Given the description of an element on the screen output the (x, y) to click on. 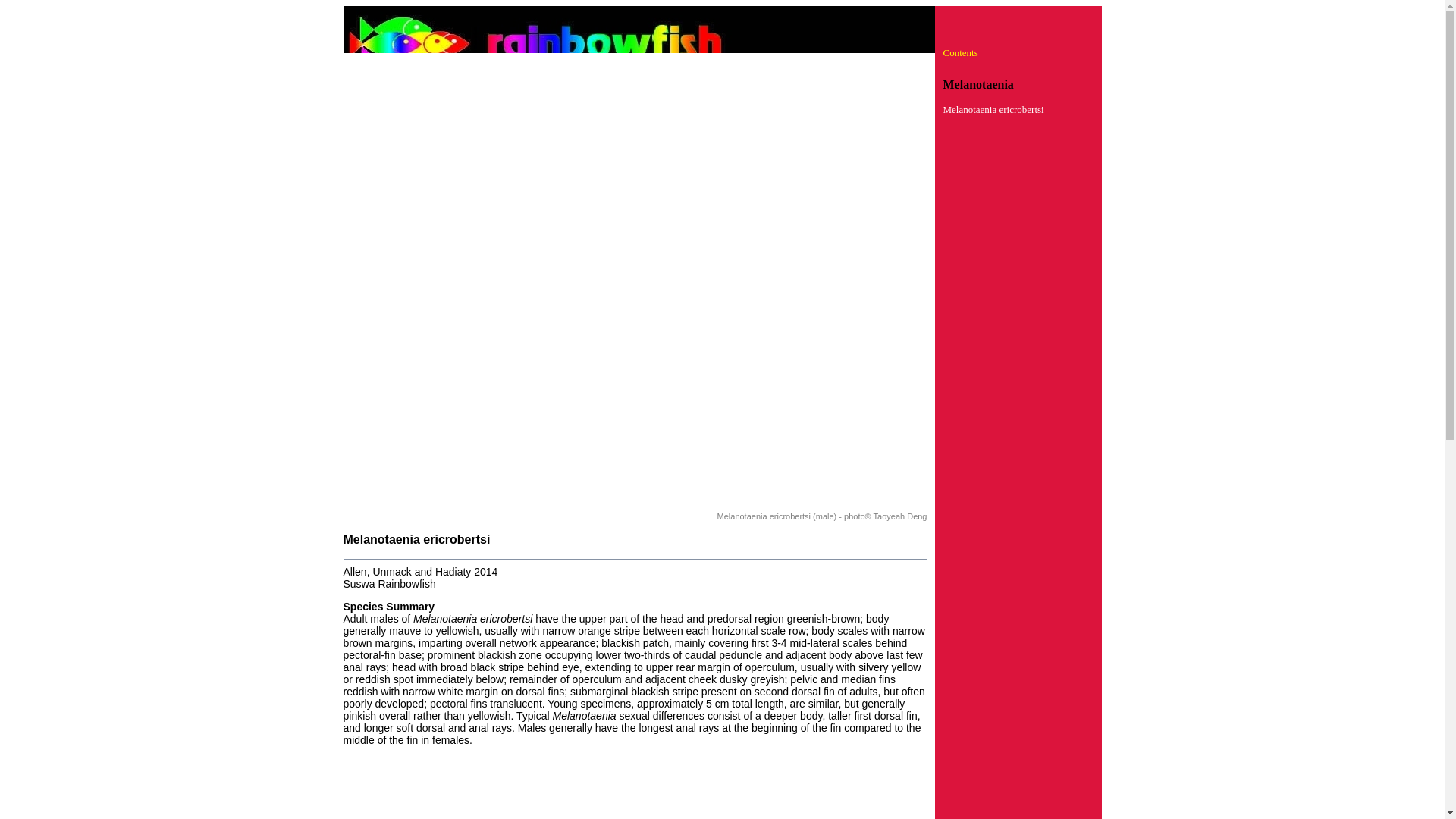
Contents (960, 52)
